Given the description of an element on the screen output the (x, y) to click on. 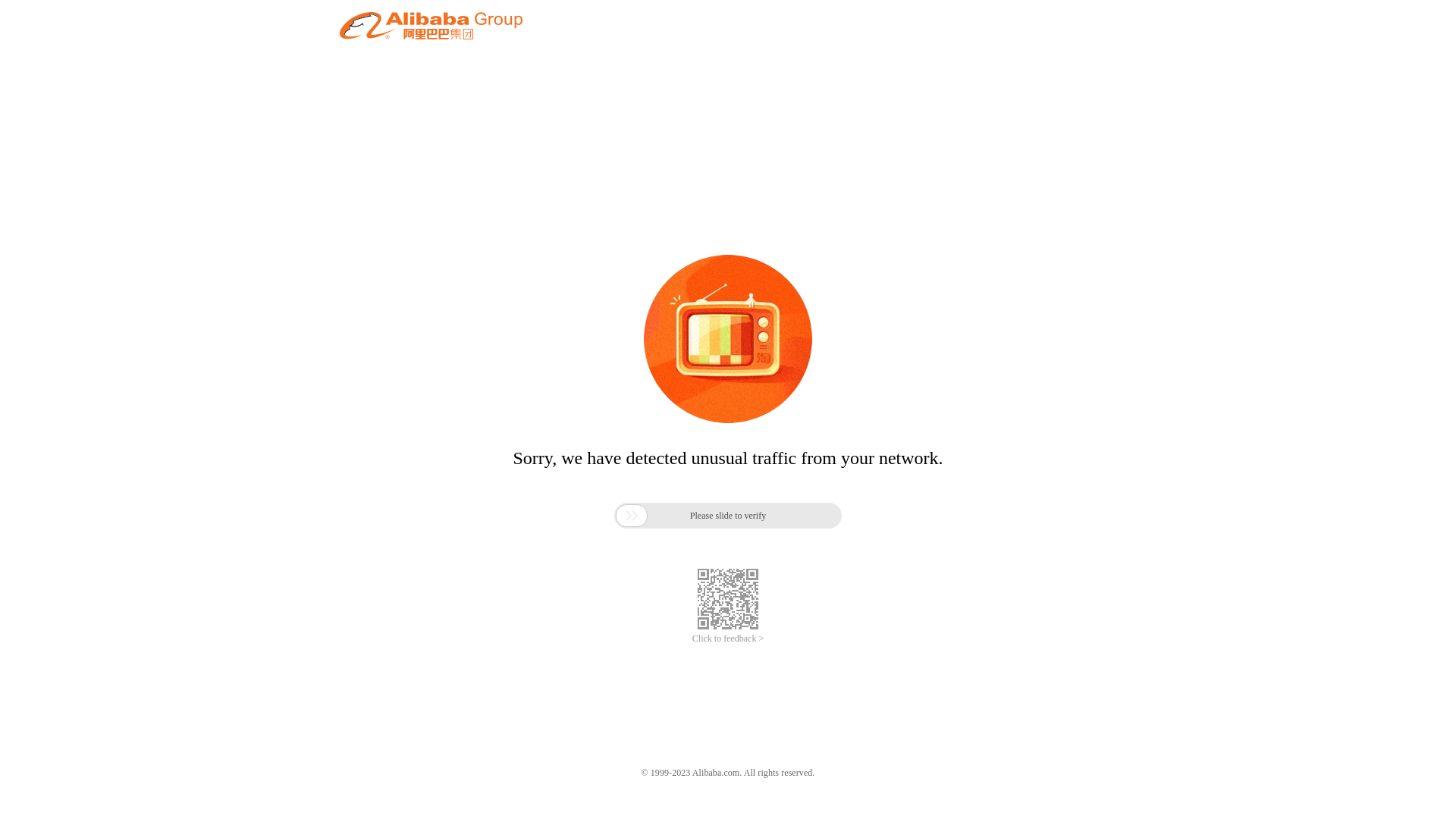
Click to feedback > Element type: text (727, 638)
